Given the description of an element on the screen output the (x, y) to click on. 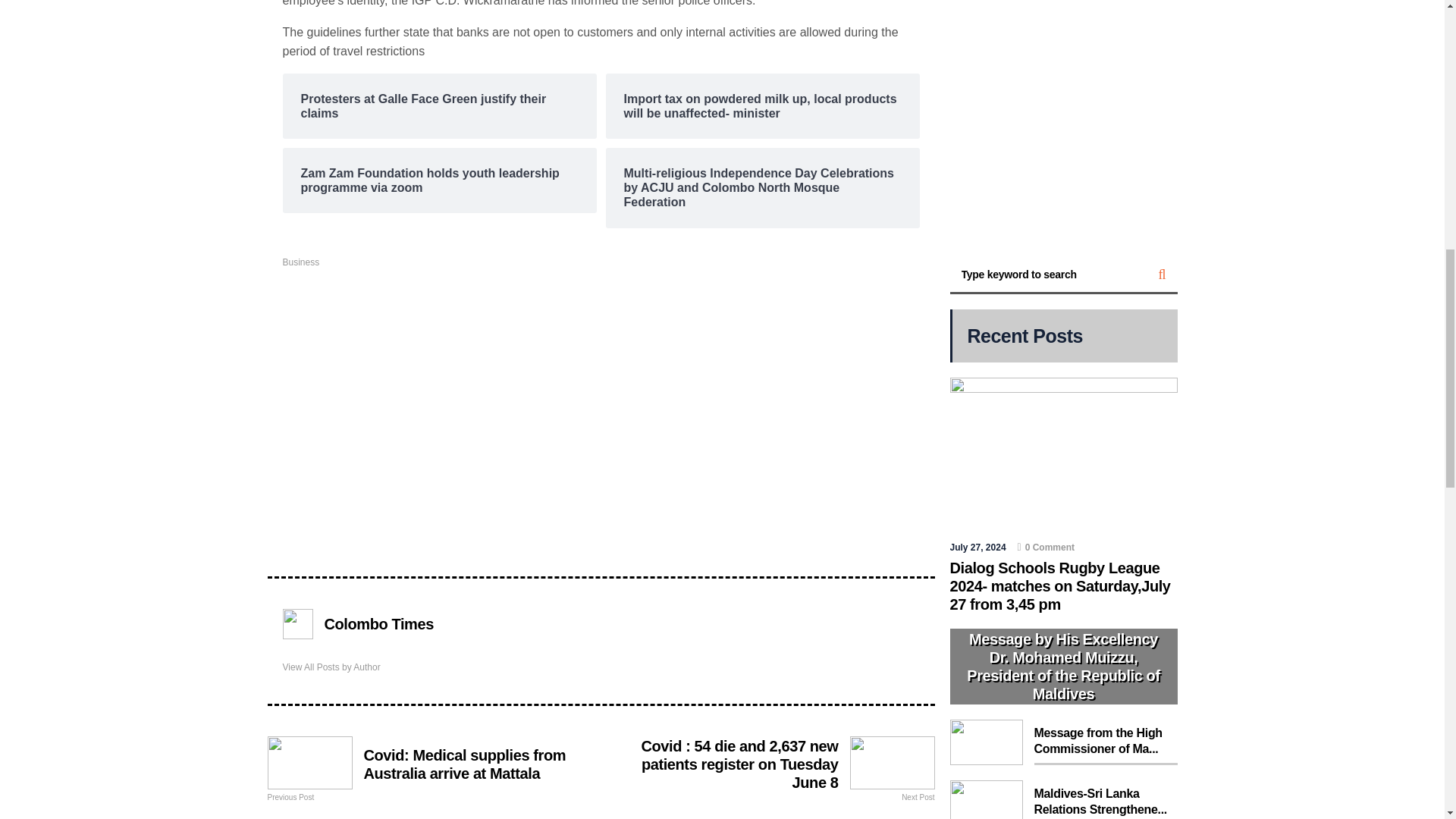
Zam Zam Foundation holds youth leadership programme via zoom (438, 180)
Protesters at Galle Face Green justify their claims (438, 105)
Type keyword to search (1048, 274)
Type keyword to search (1048, 274)
